Given the description of an element on the screen output the (x, y) to click on. 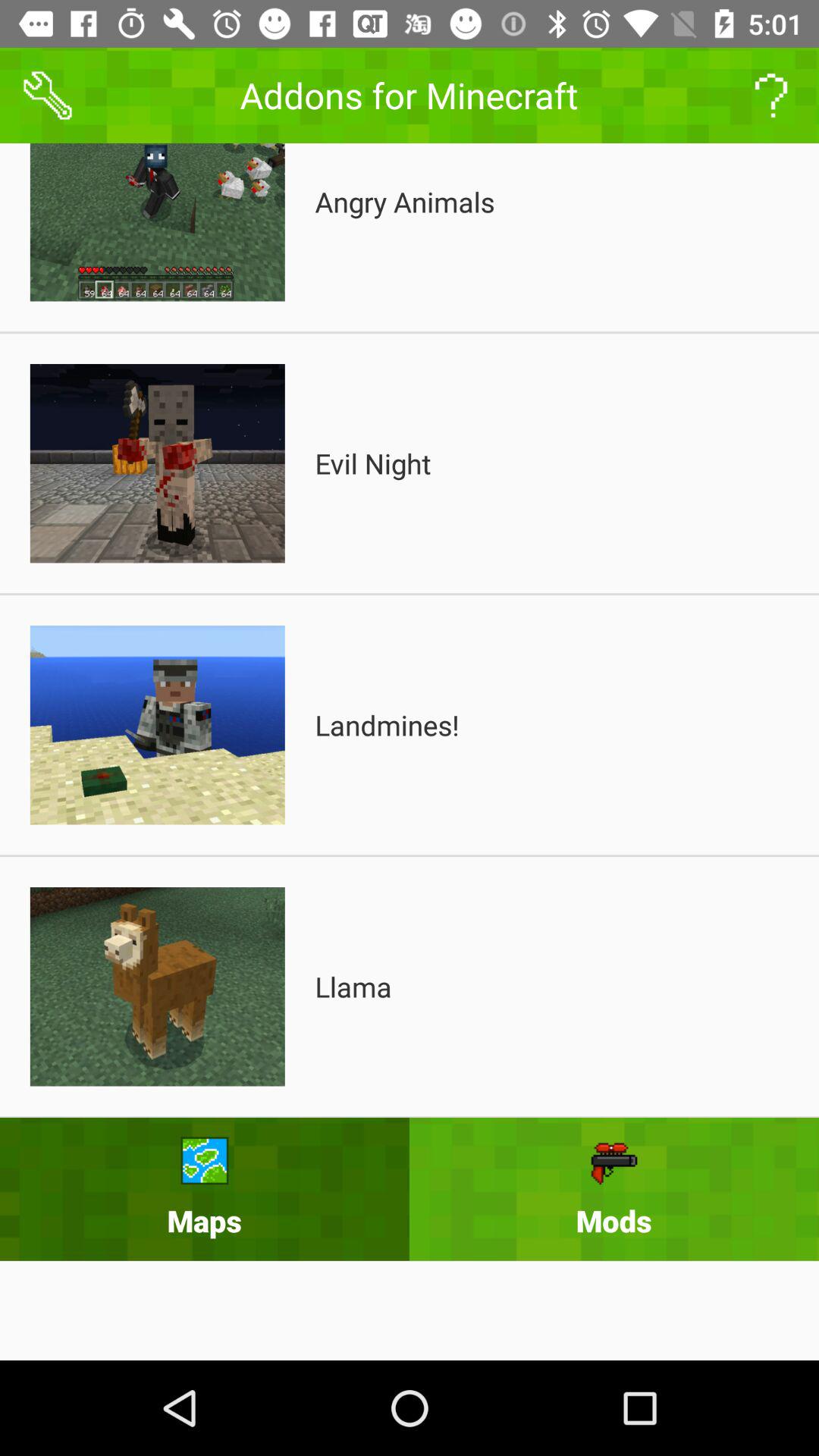
flip until the angry animals icon (404, 201)
